Given the description of an element on the screen output the (x, y) to click on. 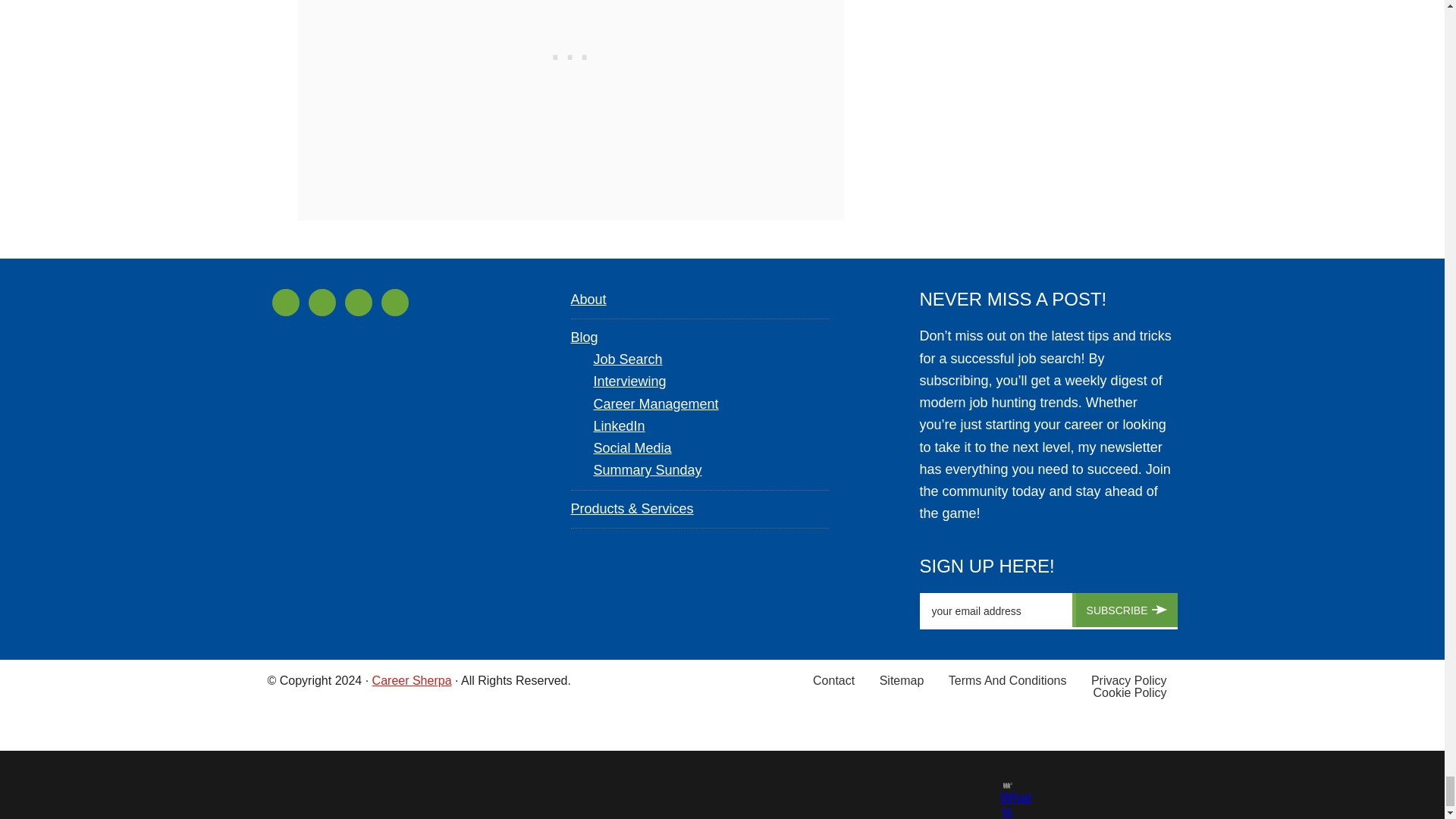
Career Sherpa (411, 679)
SUBSCRIBE (1124, 609)
